Given the description of an element on the screen output the (x, y) to click on. 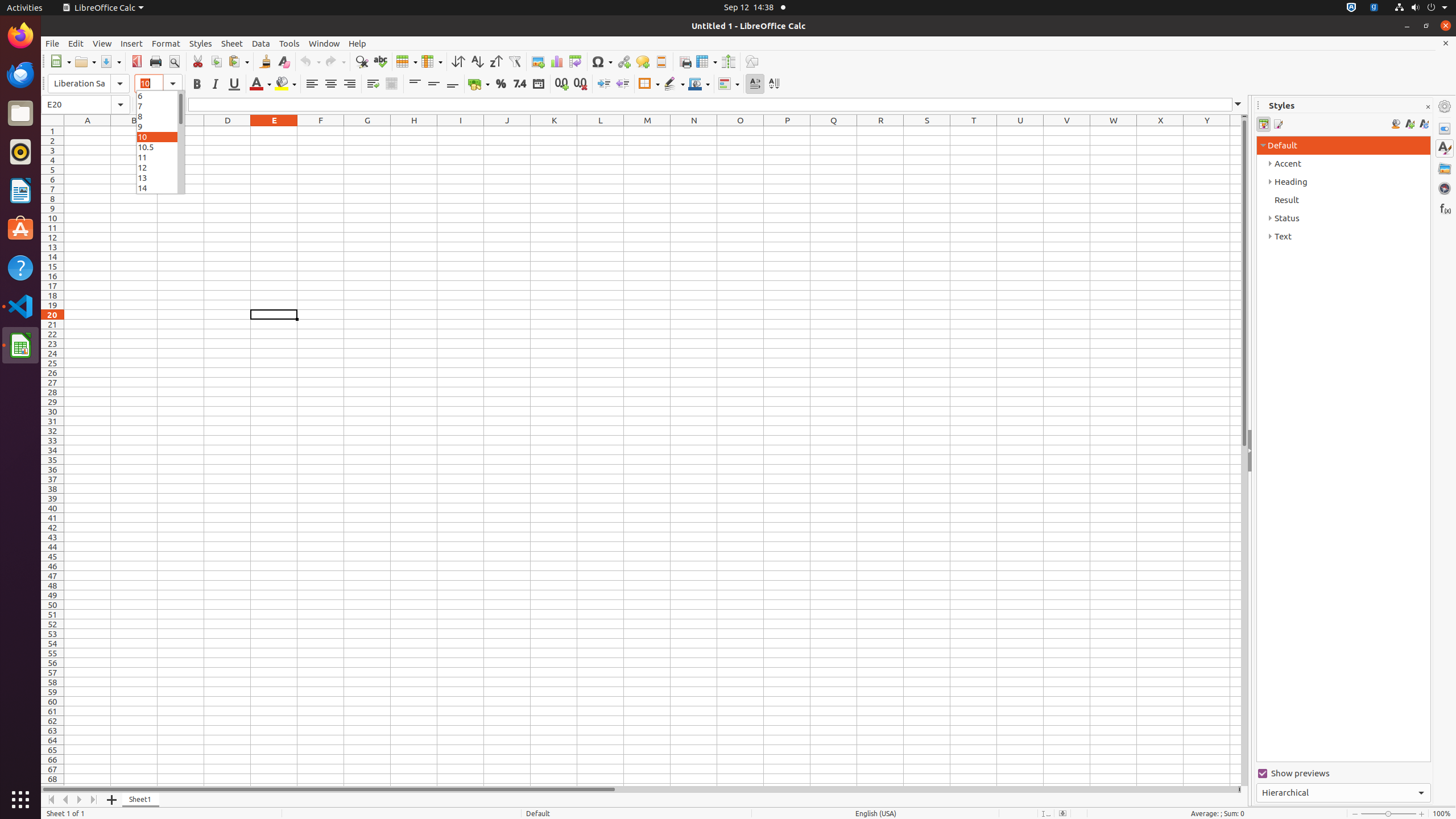
Ubuntu Software Element type: push-button (20, 229)
Window Element type: menu (324, 43)
Sort Element type: push-button (457, 61)
W1 Element type: table-cell (1113, 130)
Paste Element type: push-button (237, 61)
